Given the description of an element on the screen output the (x, y) to click on. 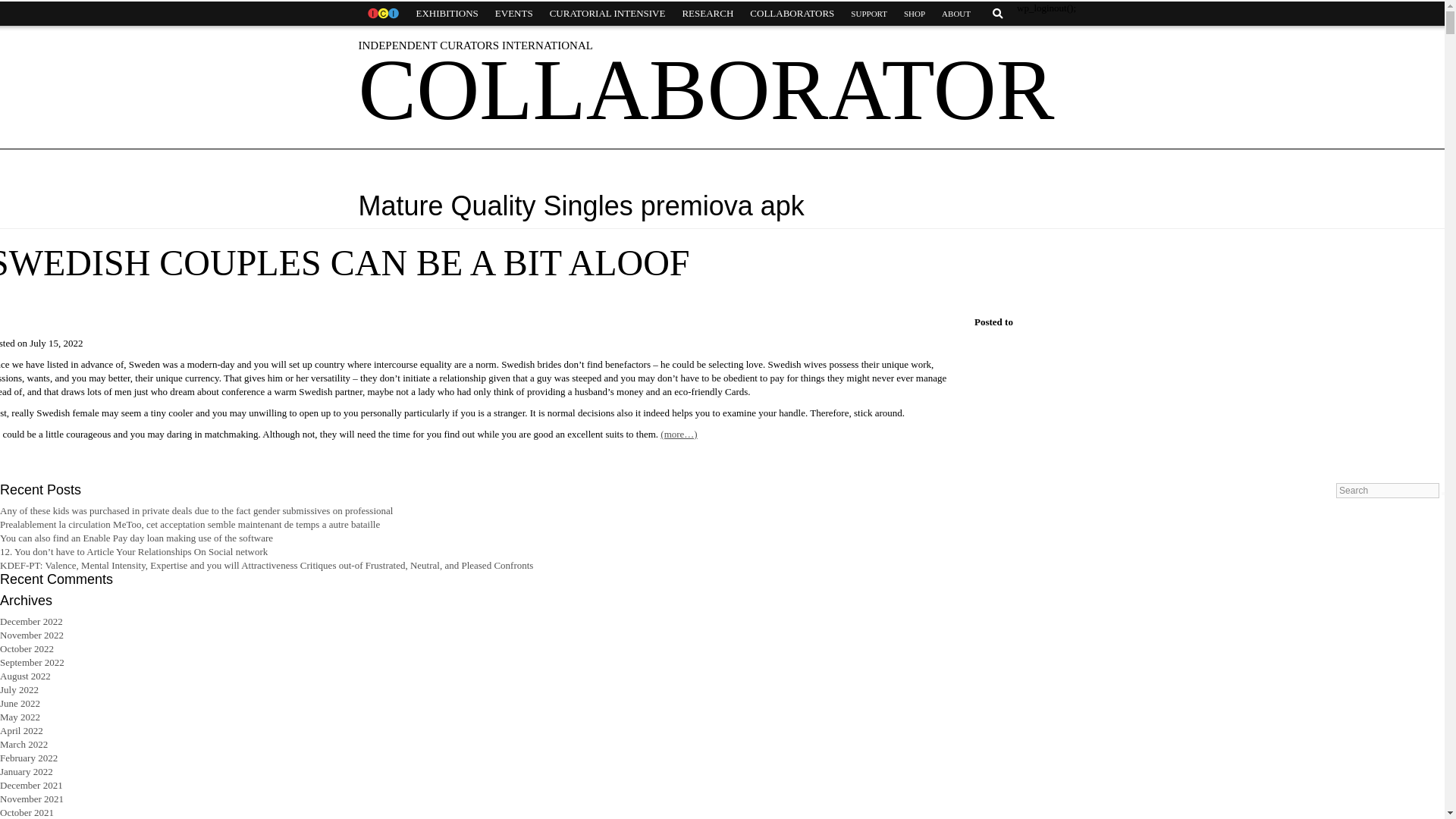
EXHIBITIONS (446, 13)
CURATORIAL INTENSIVE (607, 13)
COLLABORATORS (792, 13)
EVENTS (513, 13)
HOME (382, 13)
RESEARCH (706, 13)
